Given the description of an element on the screen output the (x, y) to click on. 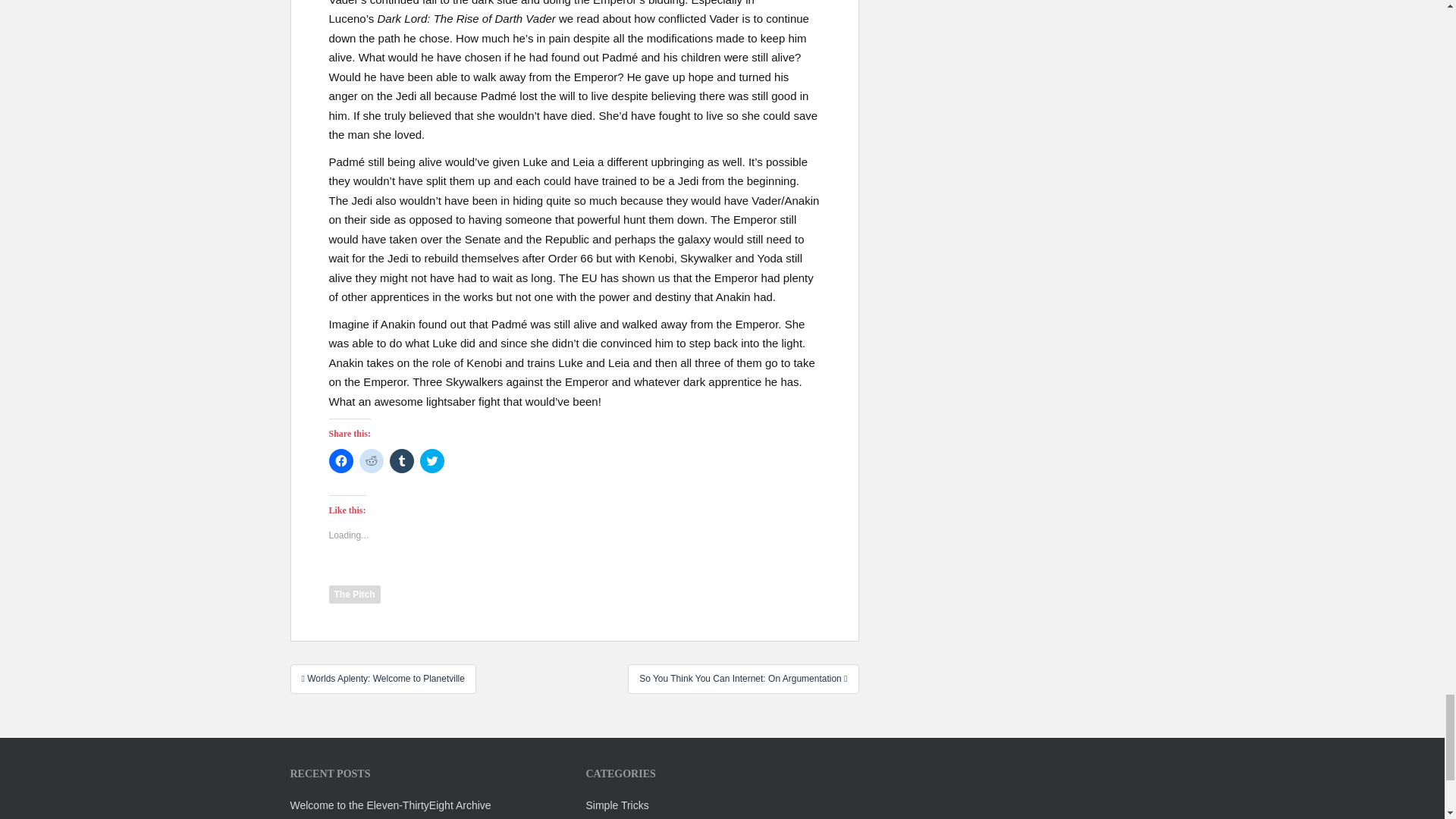
Click to share on Facebook (341, 460)
Click to share on Reddit (371, 460)
Click to share on Tumblr (401, 460)
Click to share on Twitter (432, 460)
